Given the description of an element on the screen output the (x, y) to click on. 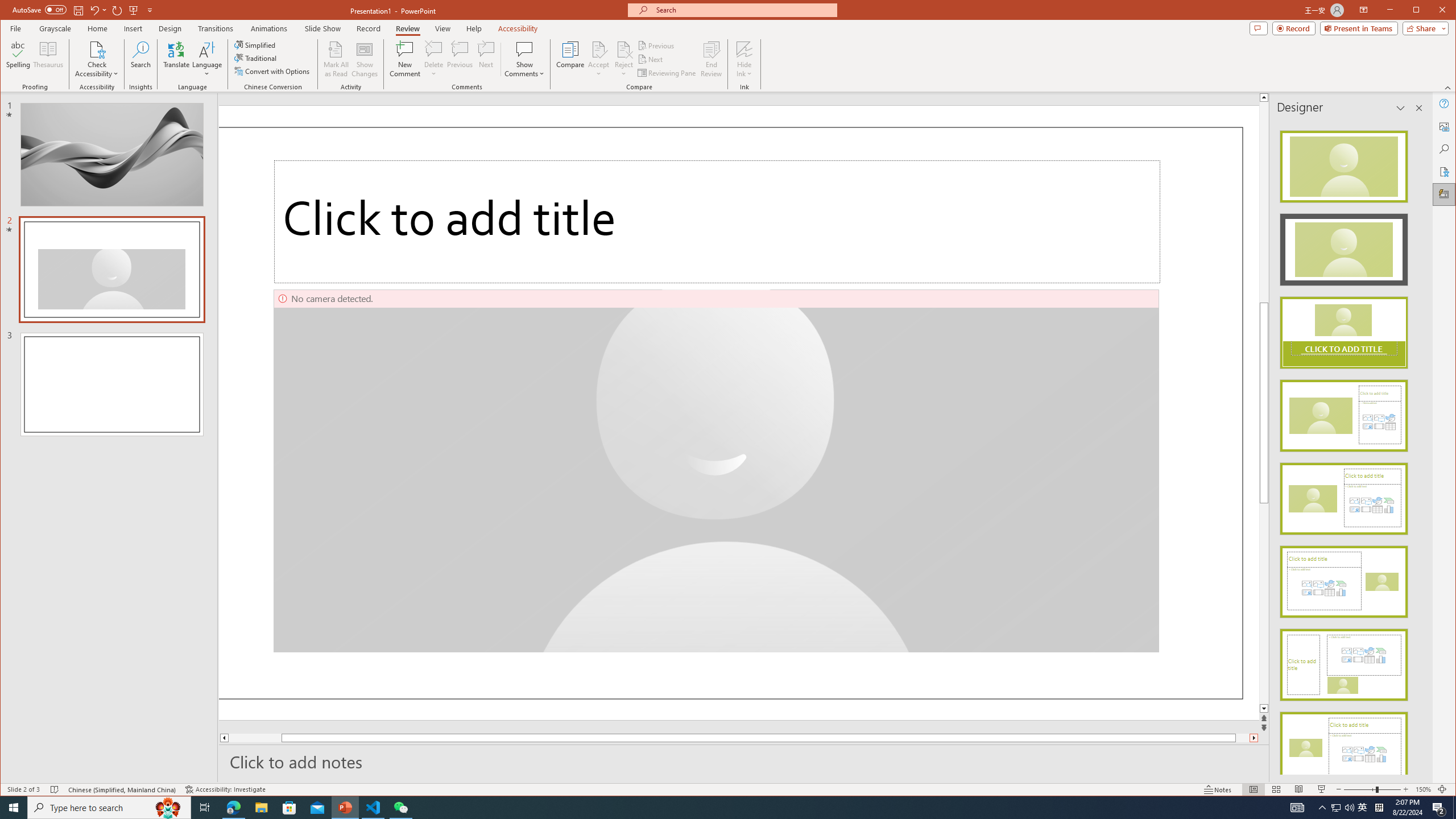
Show Comments (524, 48)
Show Comments (524, 59)
Accept (598, 59)
Mark All as Read (335, 59)
Grayscale (55, 28)
